Given the description of an element on the screen output the (x, y) to click on. 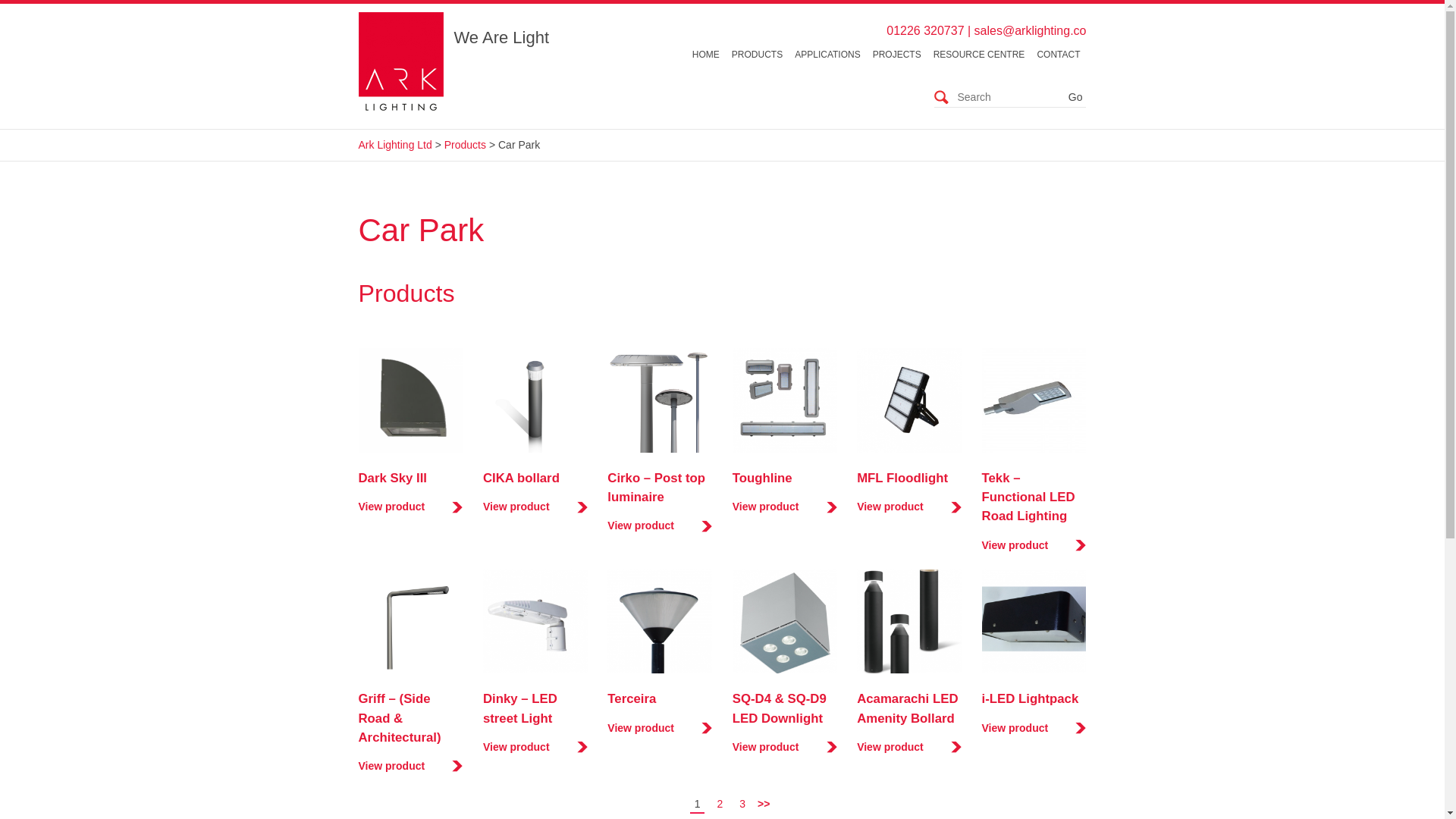
Go to Ark Lighting Ltd. (394, 144)
RESOURCE CENTRE (978, 54)
CIKA bollard (521, 477)
View product (1033, 545)
Acamarachi LED Amenity Bollard (907, 707)
CONTACT (1058, 54)
Terceira (631, 698)
HOME (705, 54)
Toughline (762, 477)
View product (659, 525)
View product (784, 506)
View product (410, 506)
Ark Lighting Ltd (394, 144)
Products (465, 144)
Dark Sky III (392, 477)
